Given the description of an element on the screen output the (x, y) to click on. 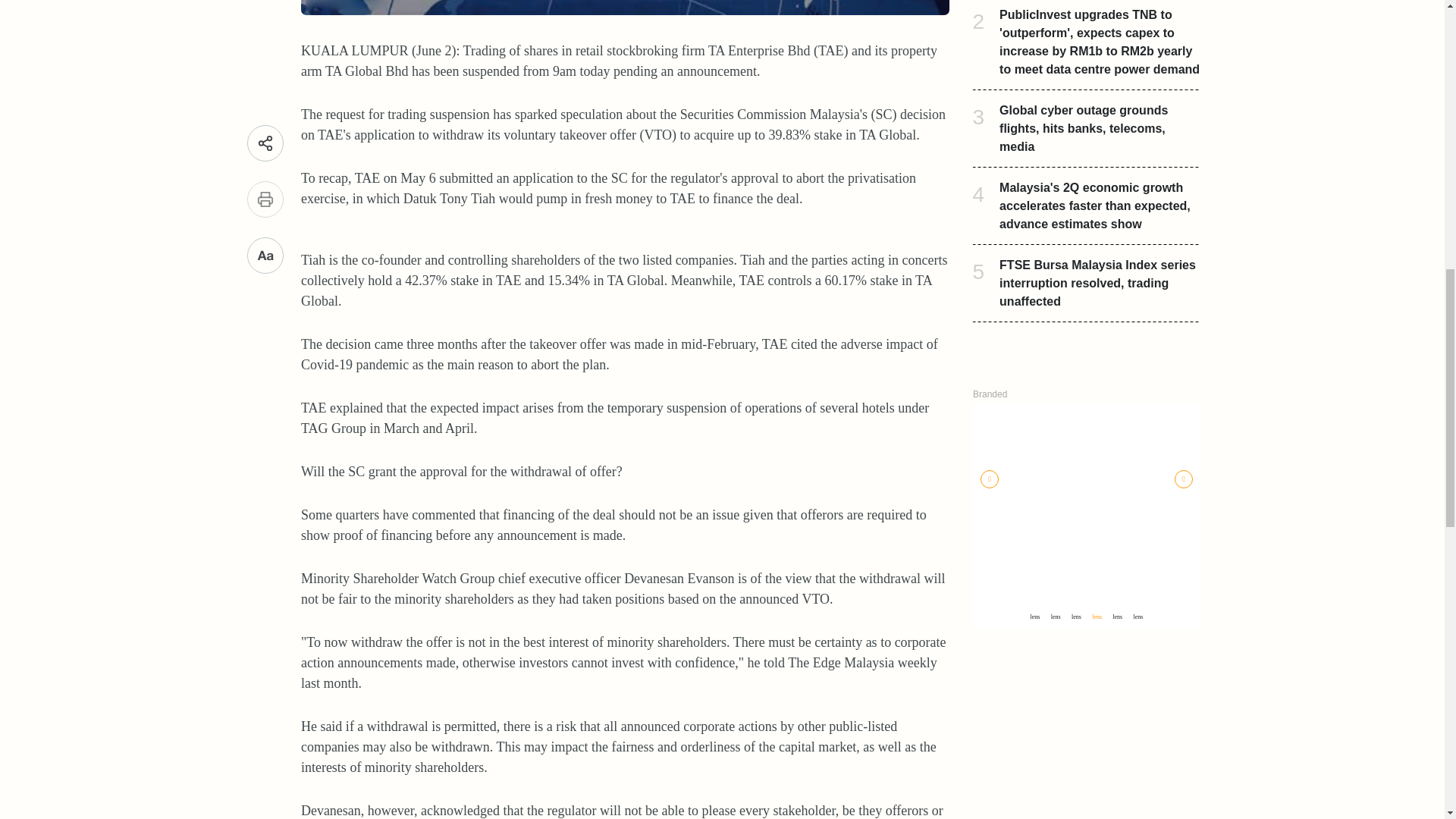
3rd party ad content (1085, 666)
